Given the description of an element on the screen output the (x, y) to click on. 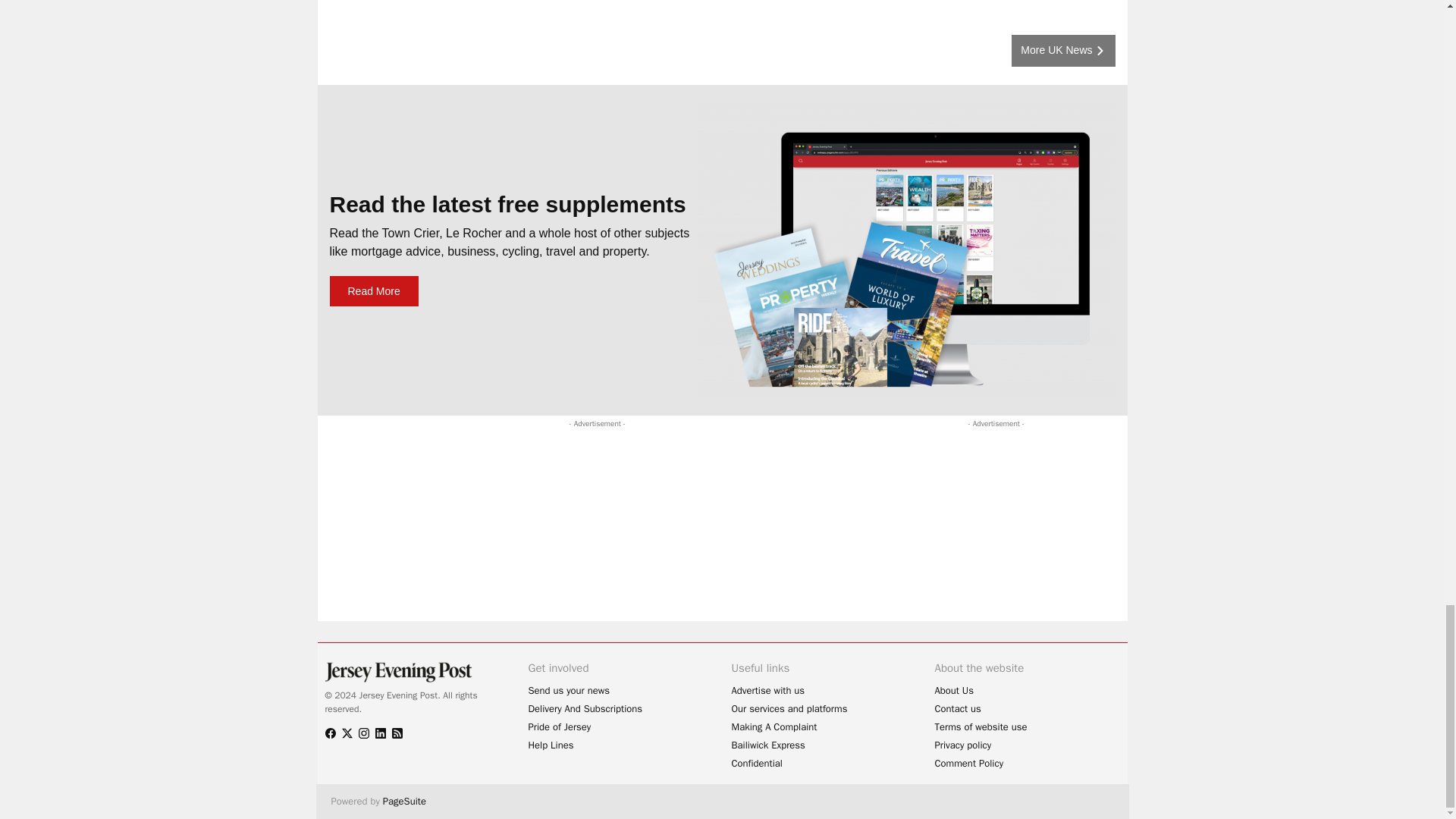
3rd party ad content (978, 525)
3rd party ad content (610, 465)
